Given the description of an element on the screen output the (x, y) to click on. 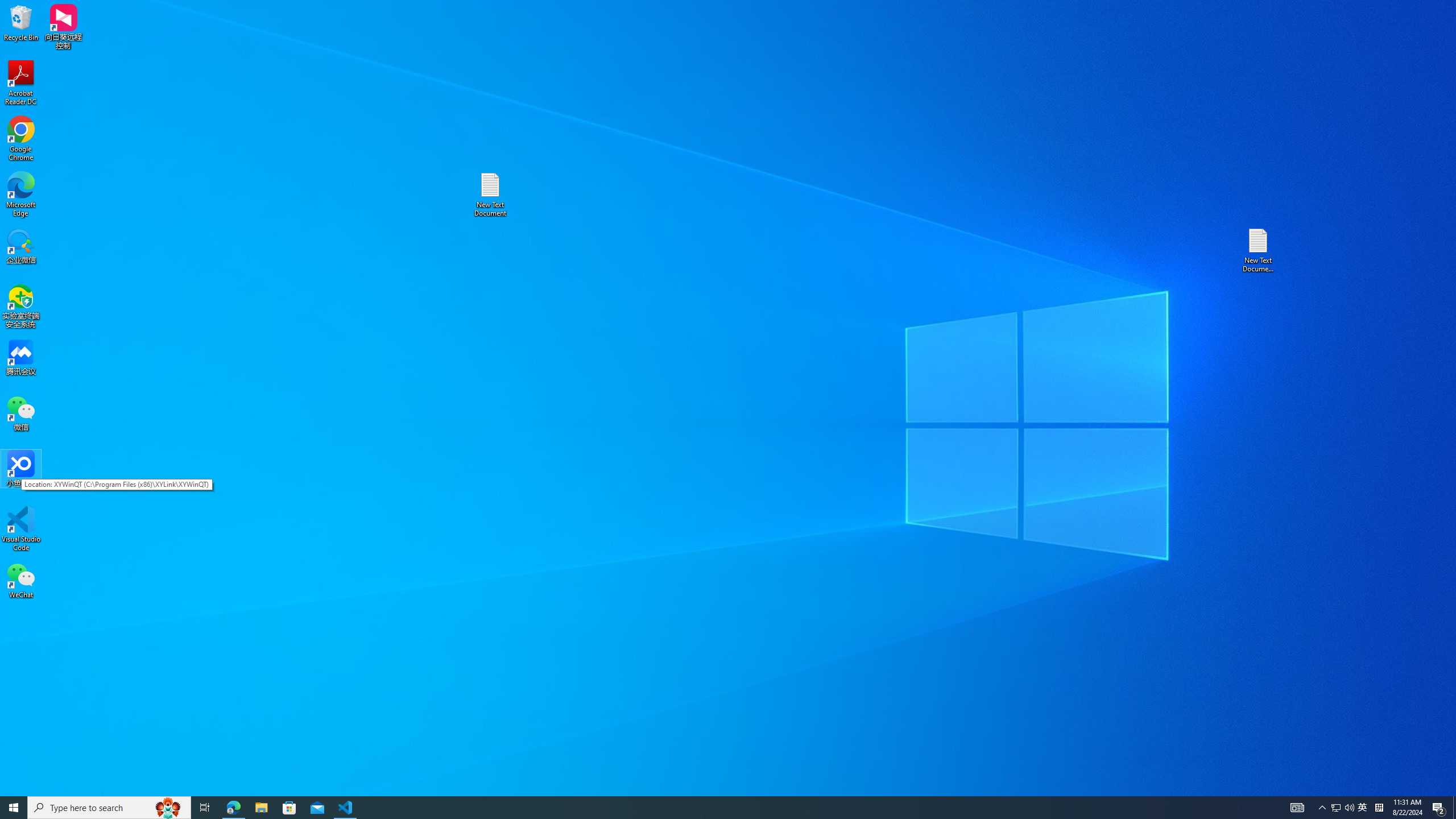
Running applications (707, 807)
Recycle Bin (21, 22)
New Text Document (489, 194)
